Given the description of an element on the screen output the (x, y) to click on. 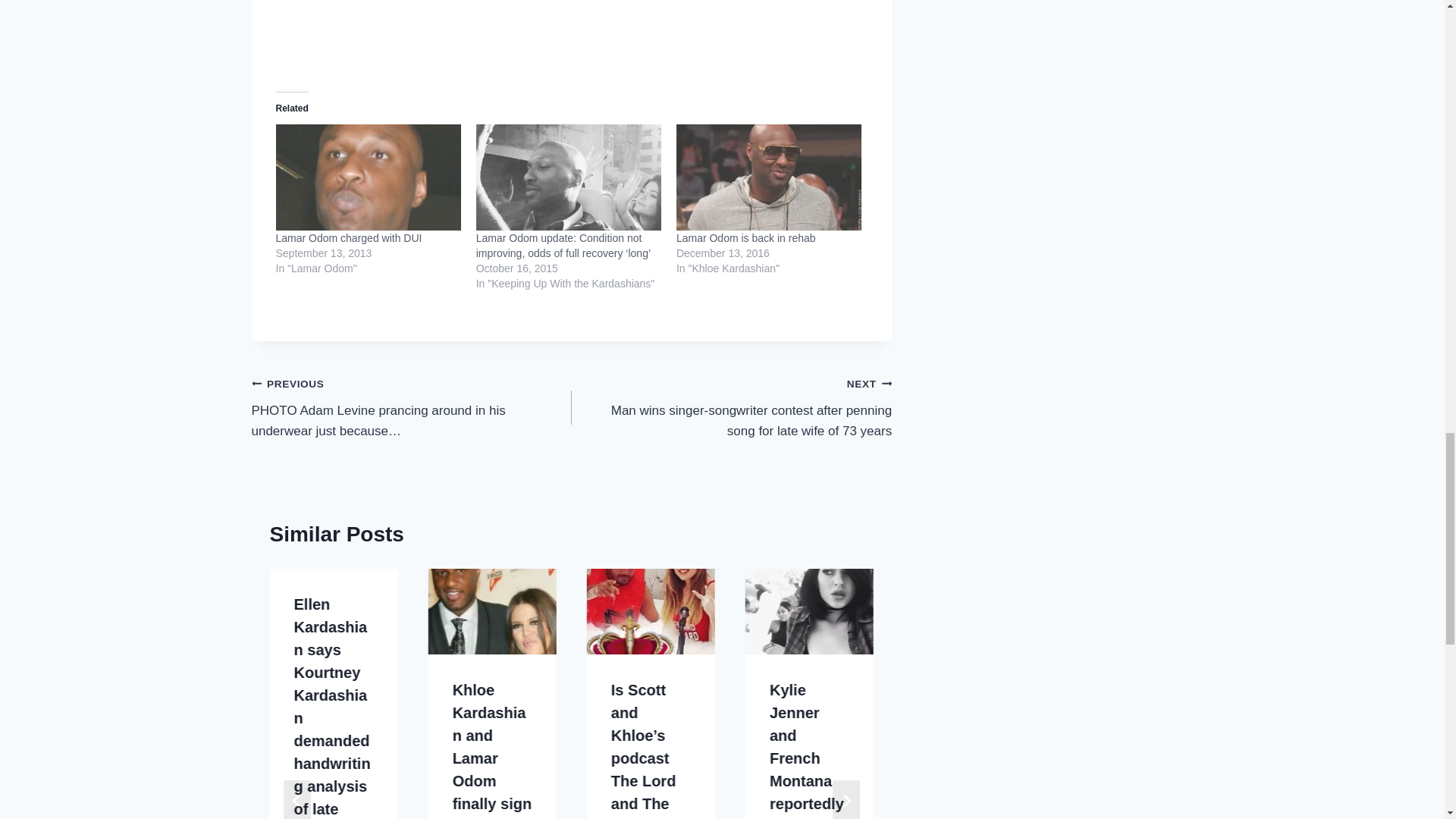
Lamar Odom charged with DUI (349, 237)
Lamar Odom is back in rehab (746, 237)
Lamar Odom charged with DUI (349, 237)
Lamar Odom is back in rehab (769, 177)
Lamar Odom charged with DUI (368, 177)
Lamar Odom is back in rehab (746, 237)
